Given the description of an element on the screen output the (x, y) to click on. 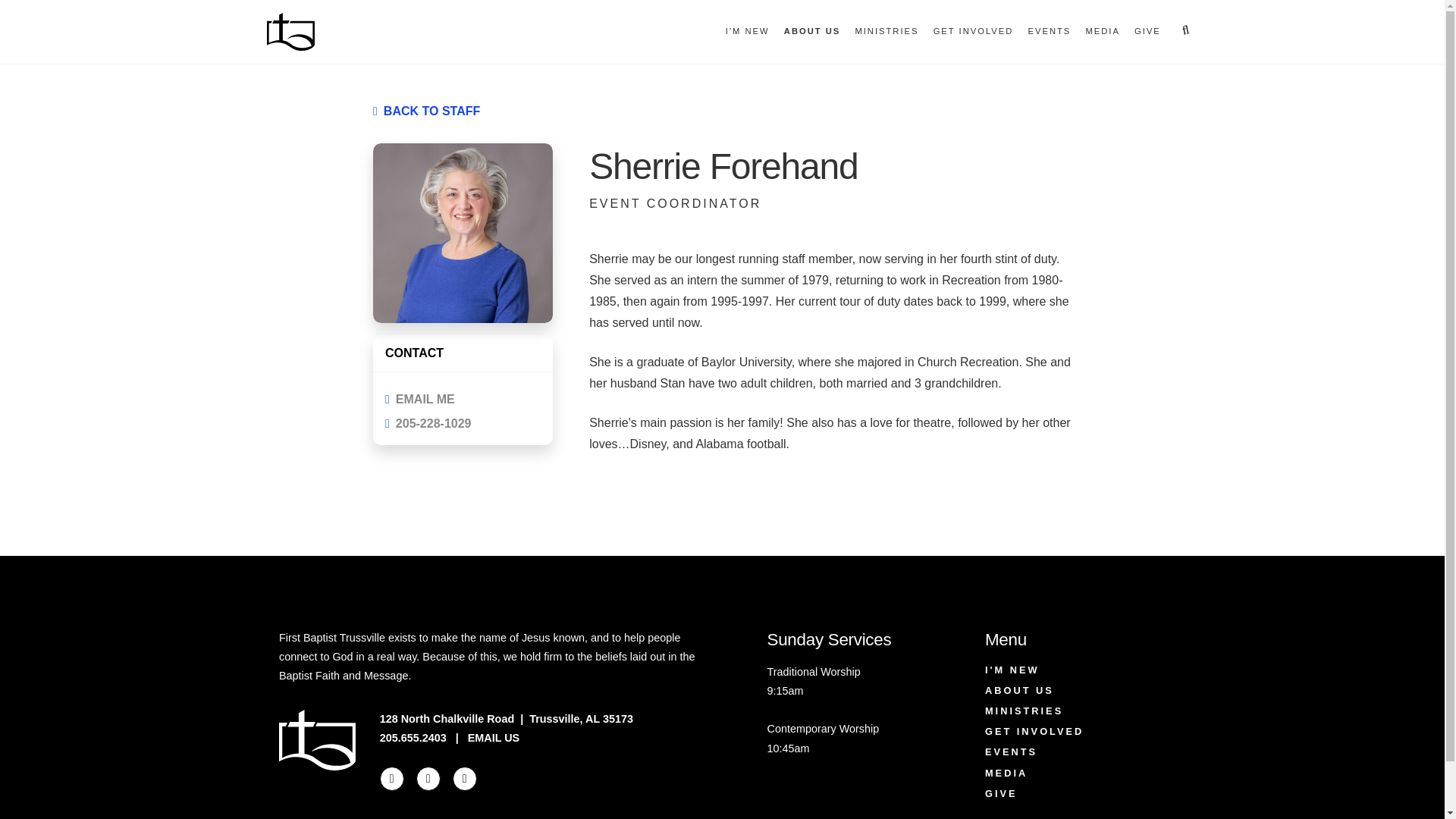
EMAIL ME (462, 399)
205.655.2403 (413, 737)
GIVE (1147, 31)
MEDIA (1101, 31)
MINISTRIES (886, 31)
205-228-1029 (462, 423)
ABOUT US (812, 31)
BACK TO STAFF (432, 110)
EVENTS (1049, 31)
EMAIL US (493, 737)
